Given the description of an element on the screen output the (x, y) to click on. 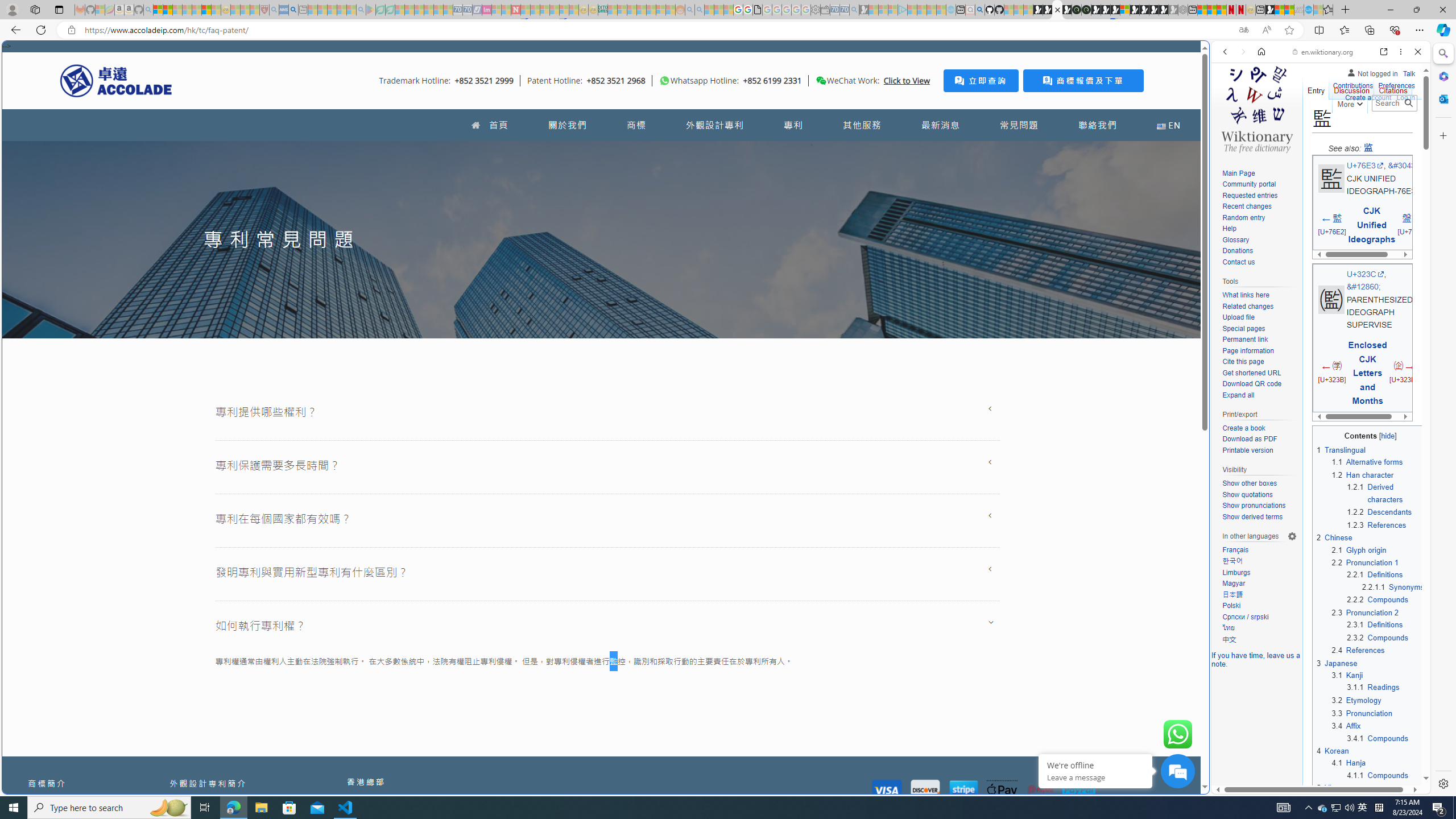
What links here (1245, 295)
Limburgs (1259, 572)
2.3Pronunciation 22.3.1Definitions2.3.2Compounds (1377, 624)
1.2.2 Descendants (1379, 512)
